Given the description of an element on the screen output the (x, y) to click on. 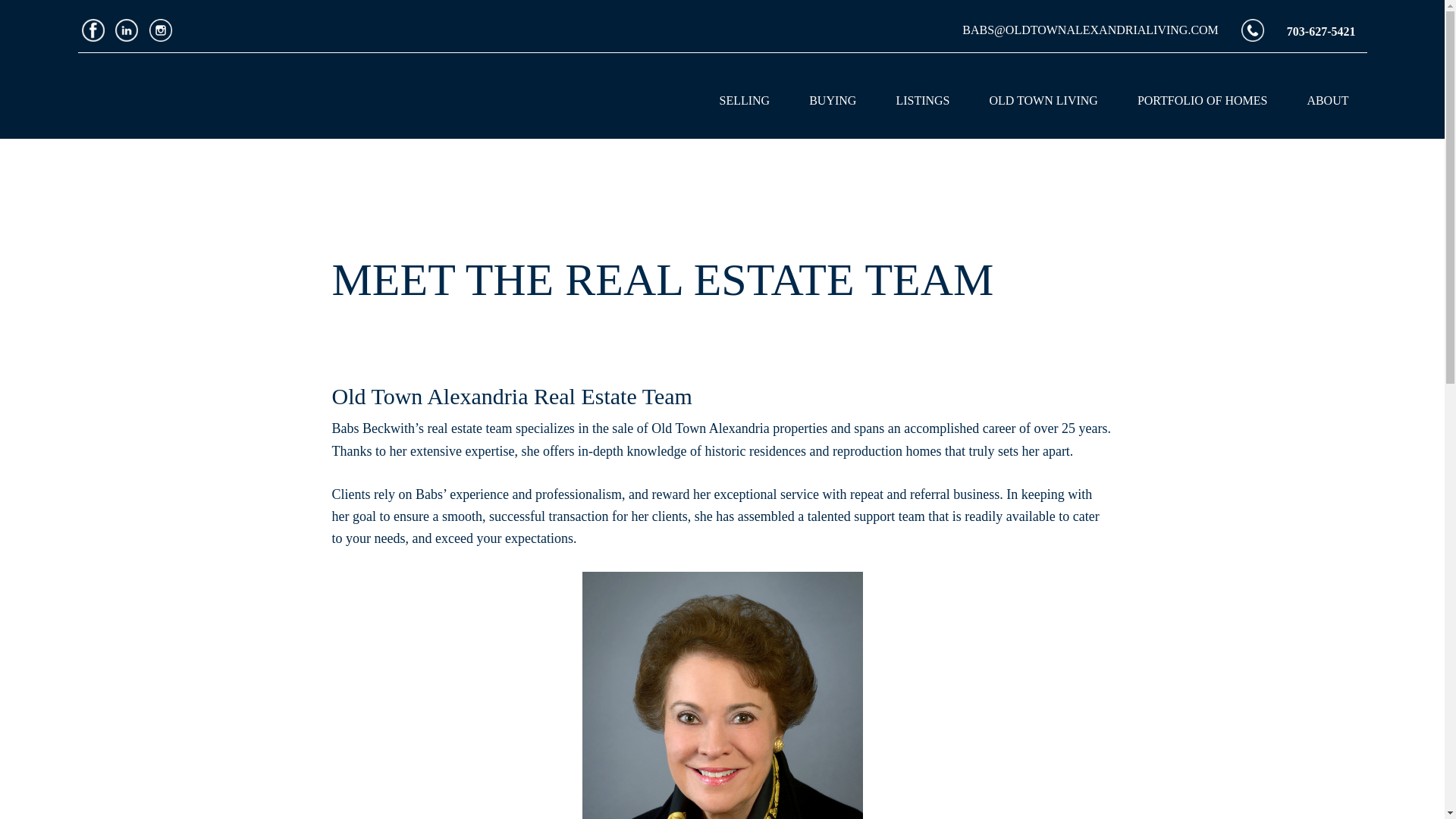
Give us a call at 703-627-5421 (1252, 29)
Check us out on LinkedIn! (126, 37)
ABOUT (1327, 100)
SELLING (743, 100)
BUYING (832, 100)
OLD TOWN LIVING (1043, 100)
LISTINGS (922, 100)
Babs Beckwith (256, 91)
PORTFOLIO OF HOMES (1202, 100)
Check us out on Instagram! (160, 37)
